Given the description of an element on the screen output the (x, y) to click on. 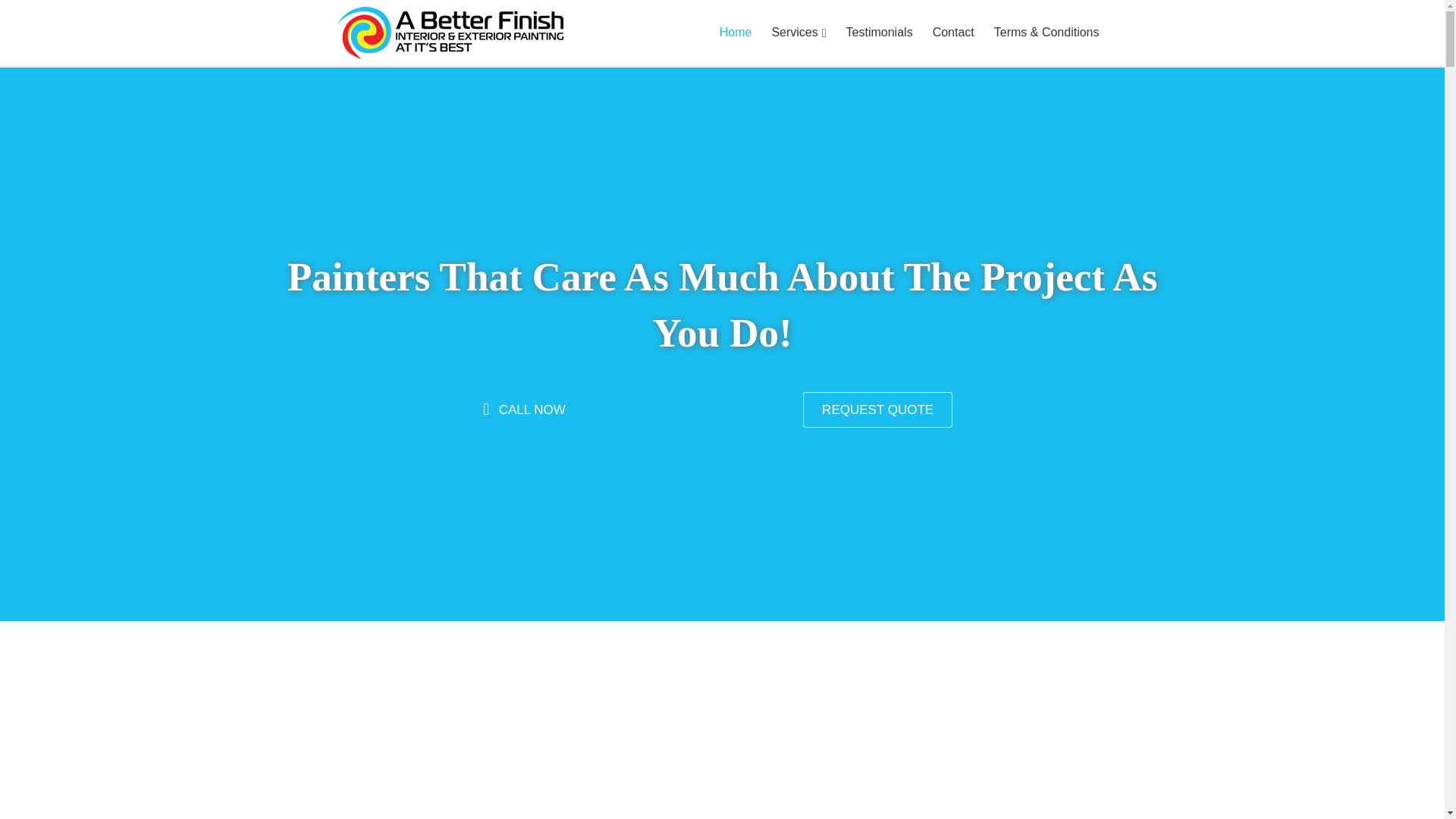
Home (735, 32)
Contact (953, 32)
CALL NOW (523, 409)
REQUEST QUOTE (877, 409)
Services (798, 33)
Testimonials (879, 32)
